Given the description of an element on the screen output the (x, y) to click on. 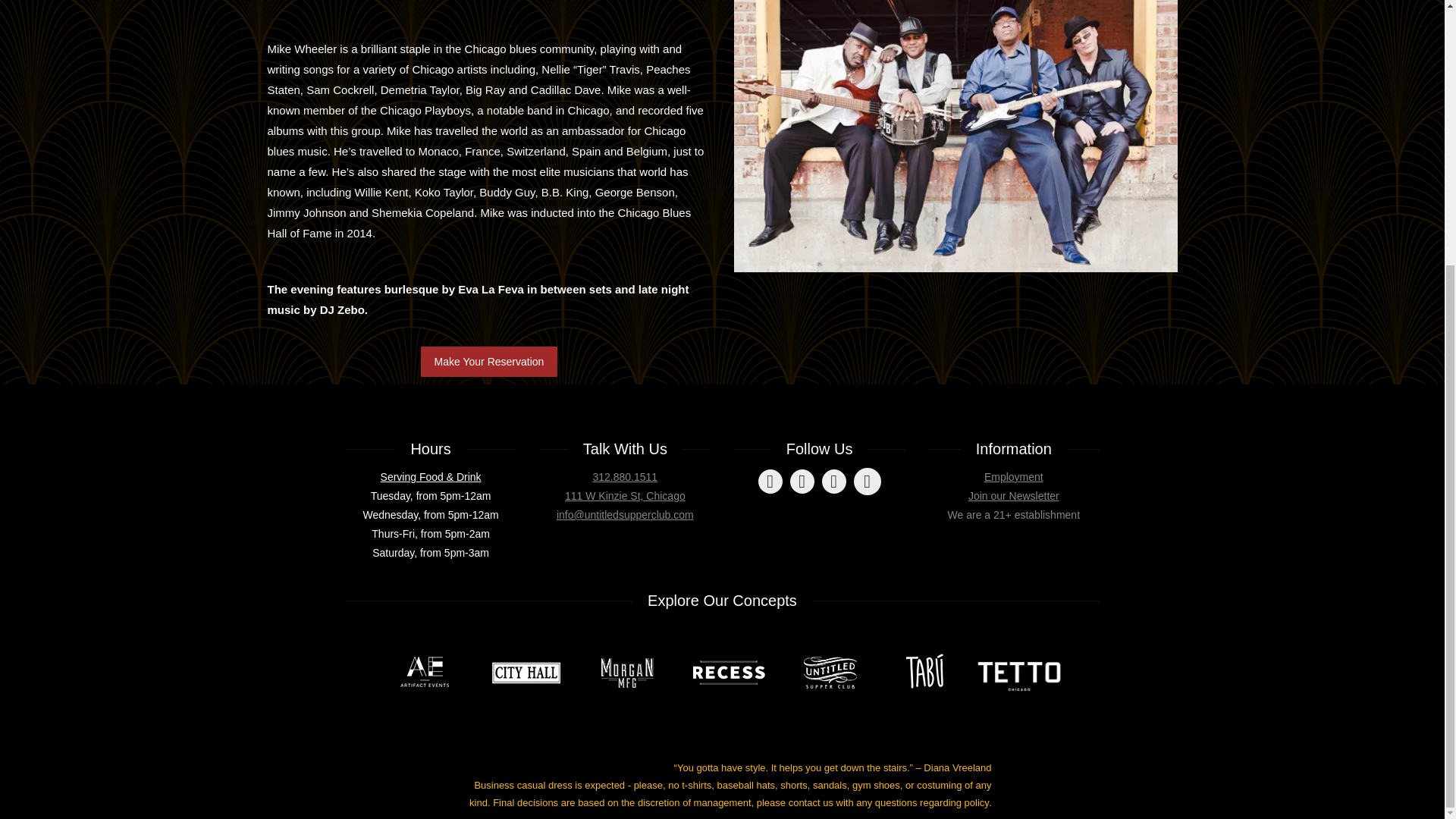
Facebook (770, 481)
MW (955, 135)
